Given the description of an element on the screen output the (x, y) to click on. 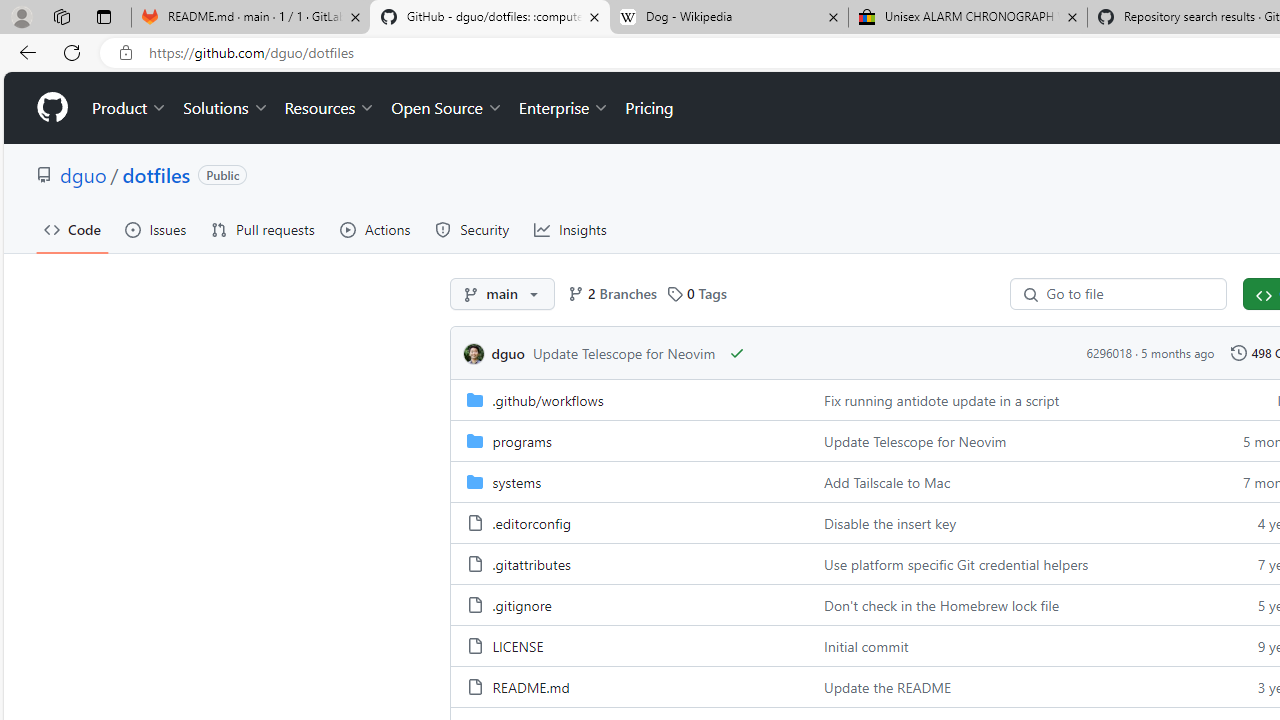
Code (71, 229)
Fix running antidote update in a script (941, 399)
Open Source (446, 107)
success (737, 353)
